Given the description of an element on the screen output the (x, y) to click on. 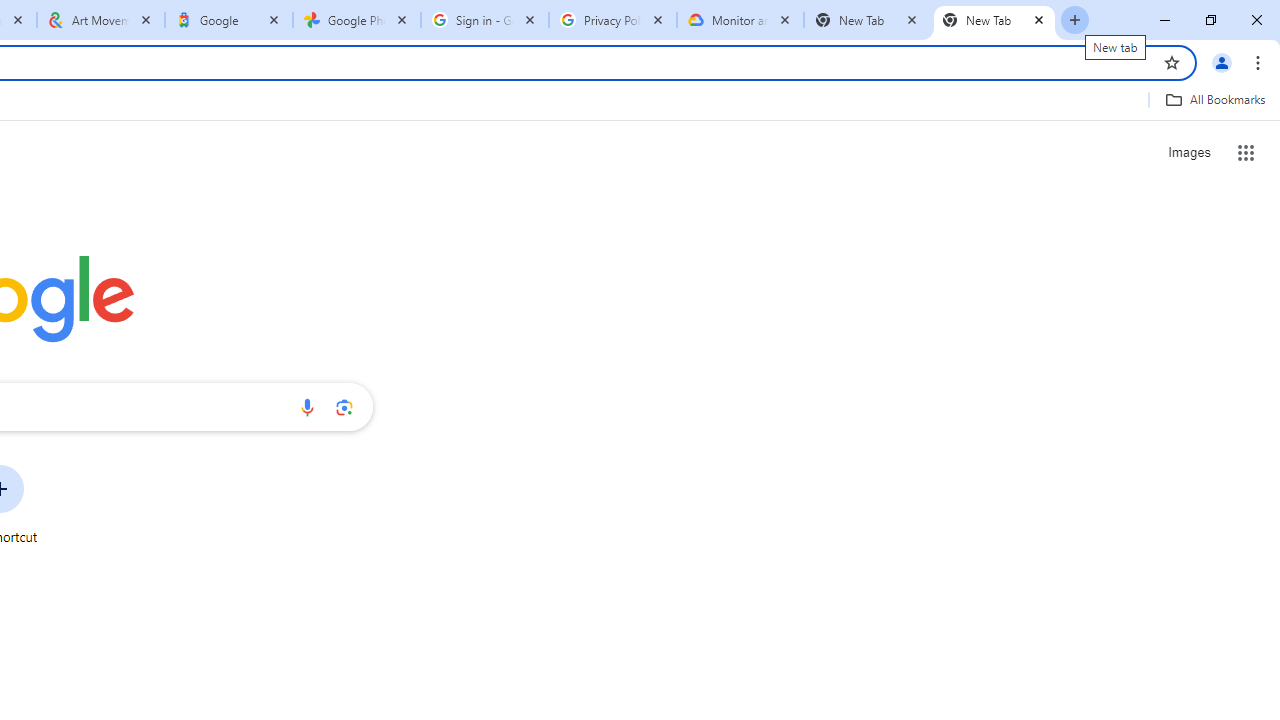
New Tab (994, 20)
